Given the description of an element on the screen output the (x, y) to click on. 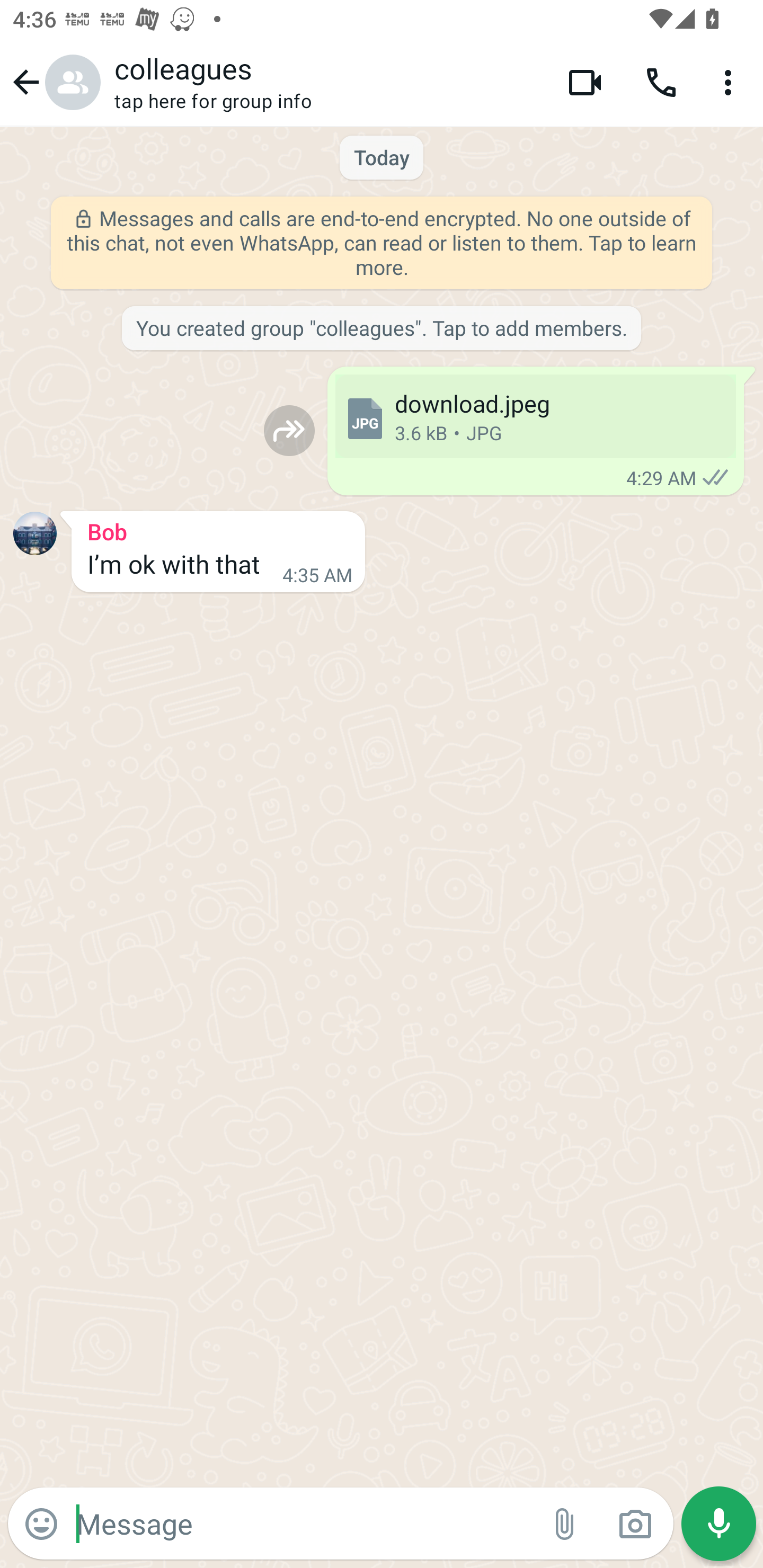
colleagues tap here for group info (327, 82)
Navigate up (54, 82)
Video call (585, 81)
Voice call (661, 81)
More options (731, 81)
download.jpeg 3.6 kB • JPG (535, 415)
Forward to… (288, 430)
Profile picture for Bob (34, 533)
Bob (217, 529)
Emoji (41, 1523)
Attach (565, 1523)
Camera (634, 1523)
Message (303, 1523)
